Given the description of an element on the screen output the (x, y) to click on. 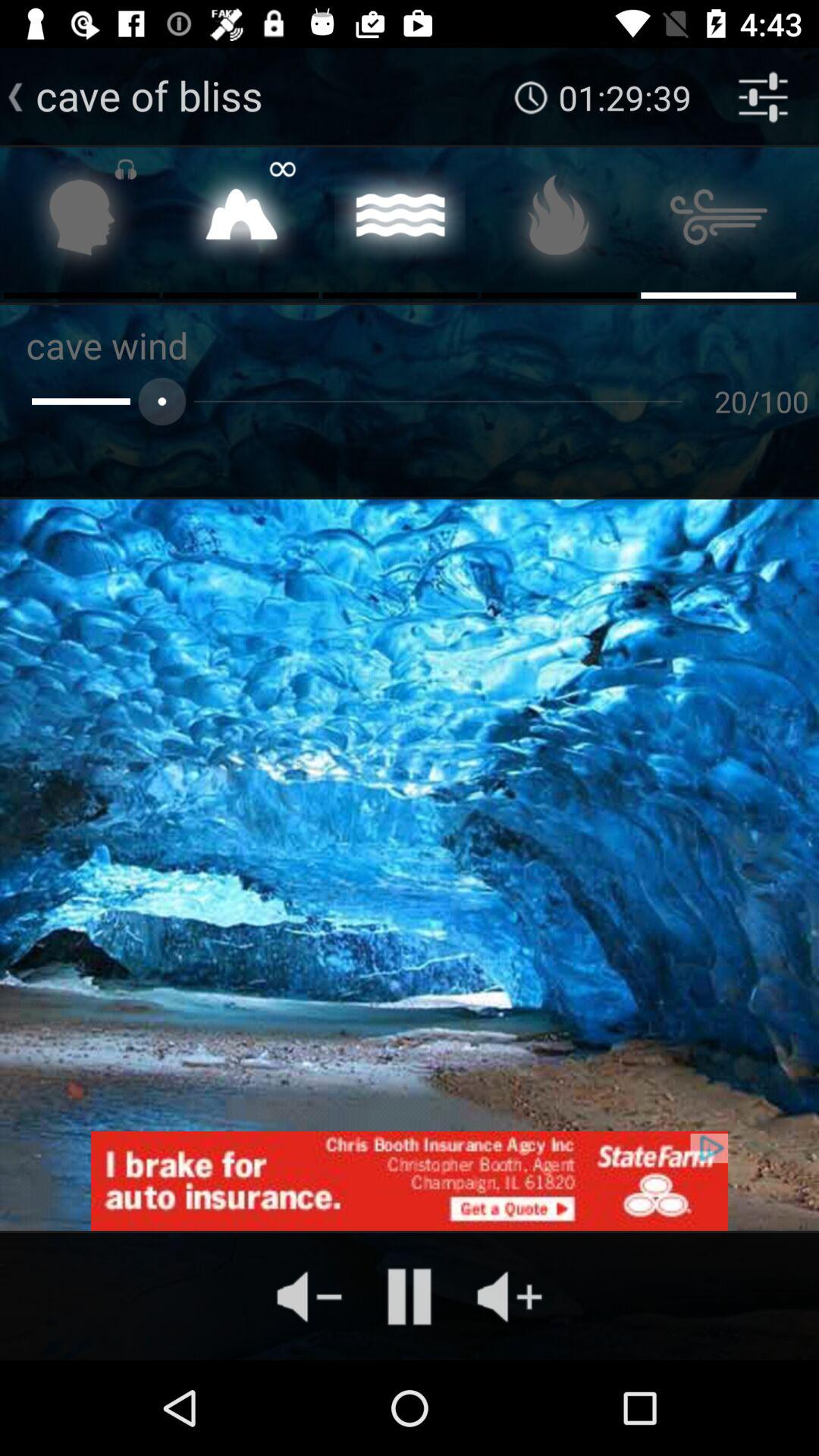
go to rite (240, 221)
